Given the description of an element on the screen output the (x, y) to click on. 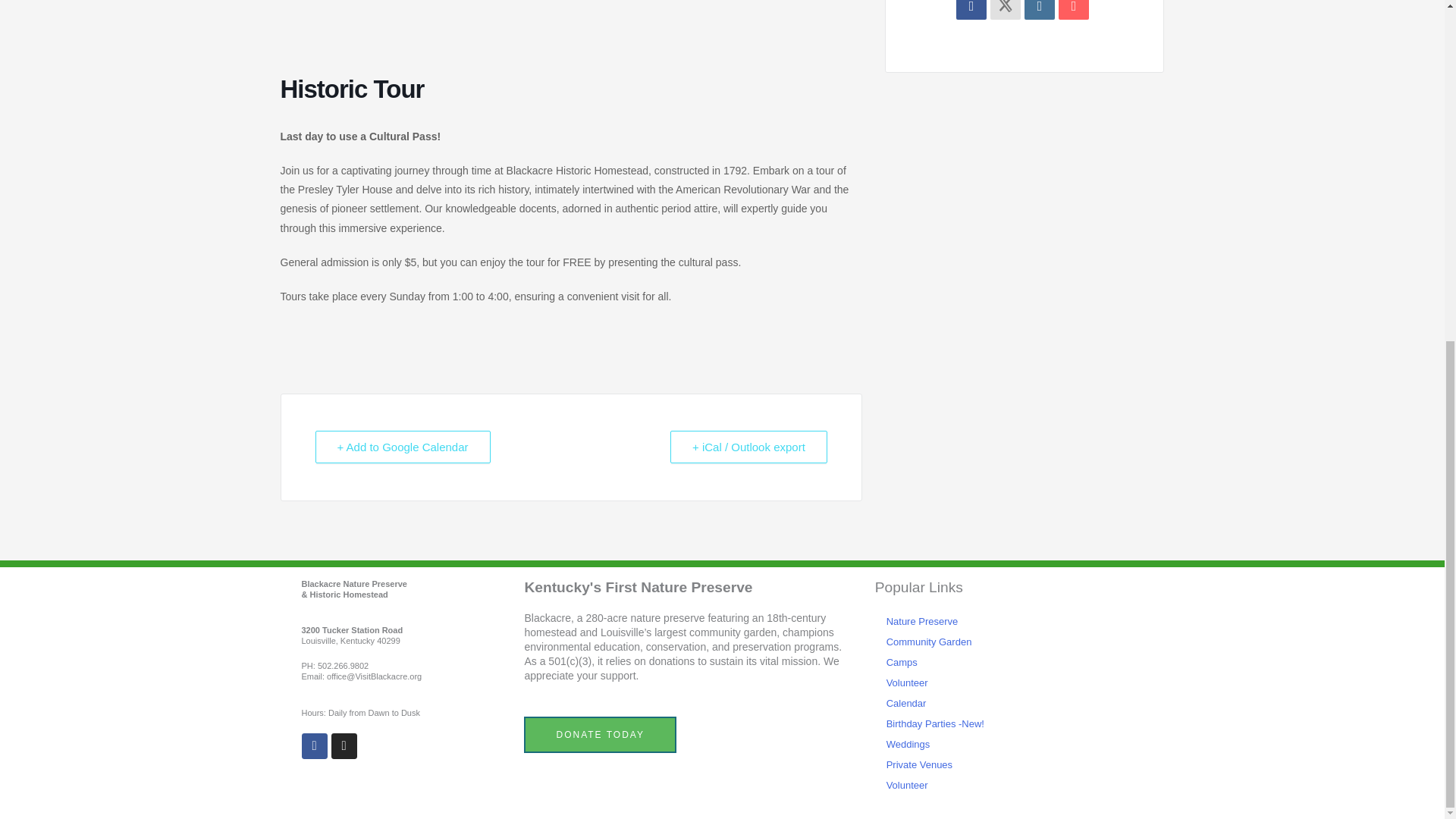
X Social Network (1005, 9)
Share on Facebook (971, 9)
Email (1073, 9)
Linkedin (1039, 9)
